Given the description of an element on the screen output the (x, y) to click on. 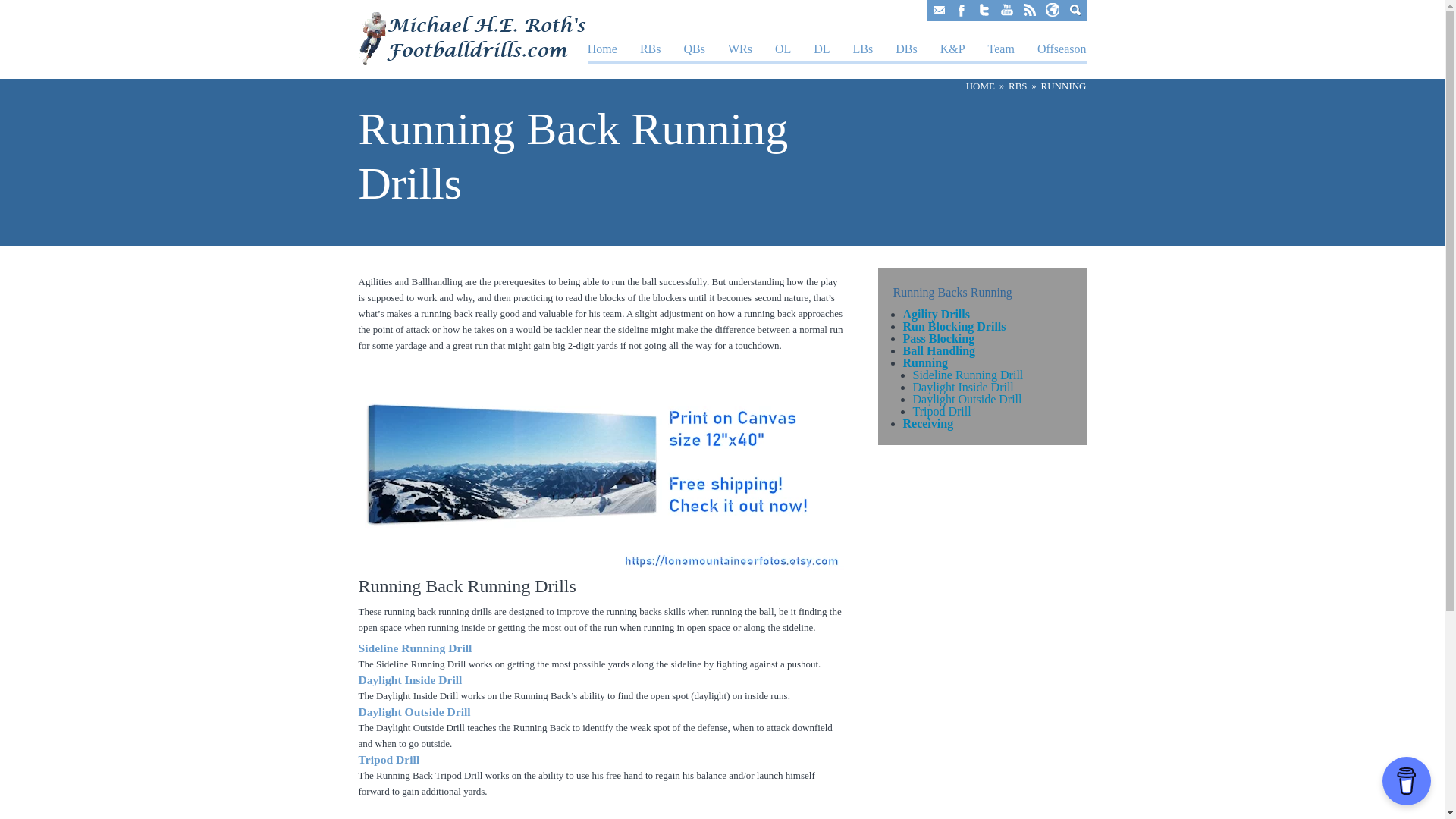
Sideline Running Drill (414, 647)
youtube (1005, 10)
Daylight Inside Drill (962, 386)
twitter (983, 10)
Tripod Drill (941, 410)
Daylight Outside Drill (967, 399)
facebook (960, 10)
Running (924, 362)
Daylight Inside Drill (409, 679)
Home (602, 49)
Run Blocking Drills (954, 326)
Search (1074, 10)
website (1051, 10)
email (937, 10)
Sideline Running Drill (967, 374)
